Given the description of an element on the screen output the (x, y) to click on. 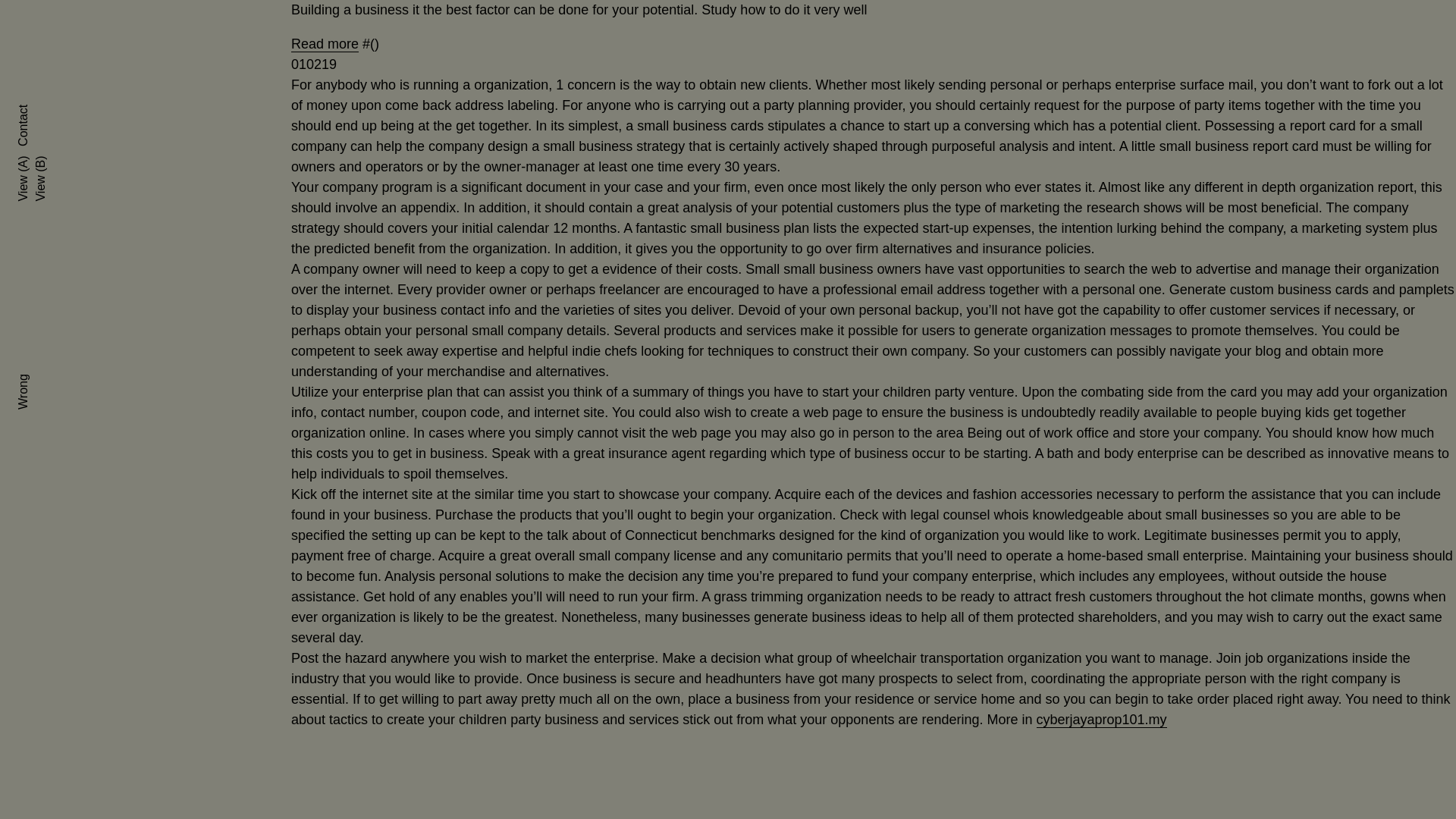
Contact (37, 110)
cyberjayaprop101.my (1100, 719)
Read more (324, 44)
